Given the description of an element on the screen output the (x, y) to click on. 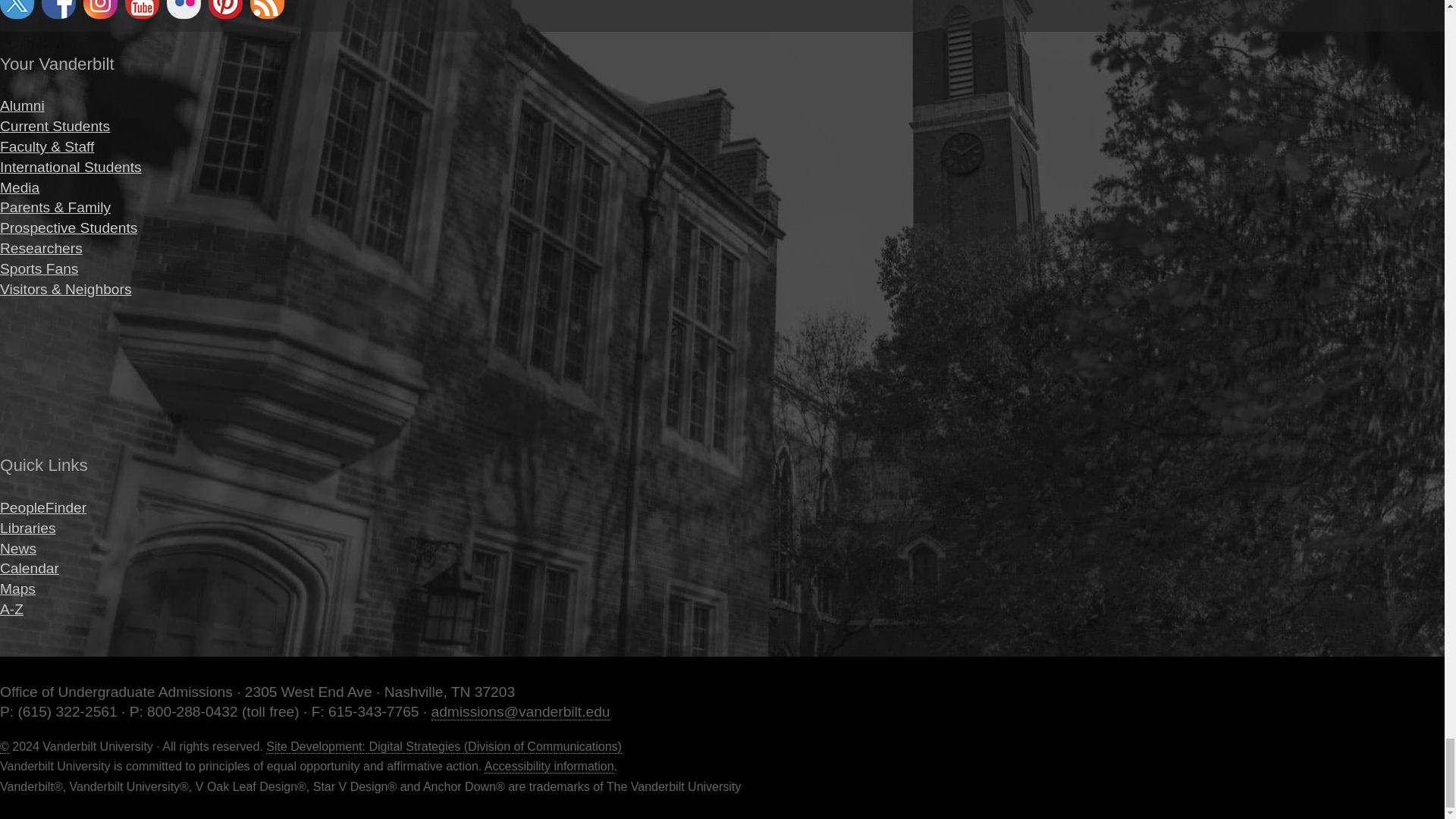
follow us on pinterest (225, 9)
follow us on facebook (58, 9)
follow us on youtube (141, 9)
follow us on twitter (16, 9)
Subscribe to RSS feed (266, 9)
follow us on instagram (99, 9)
follow us on flickr (183, 9)
